Given the description of an element on the screen output the (x, y) to click on. 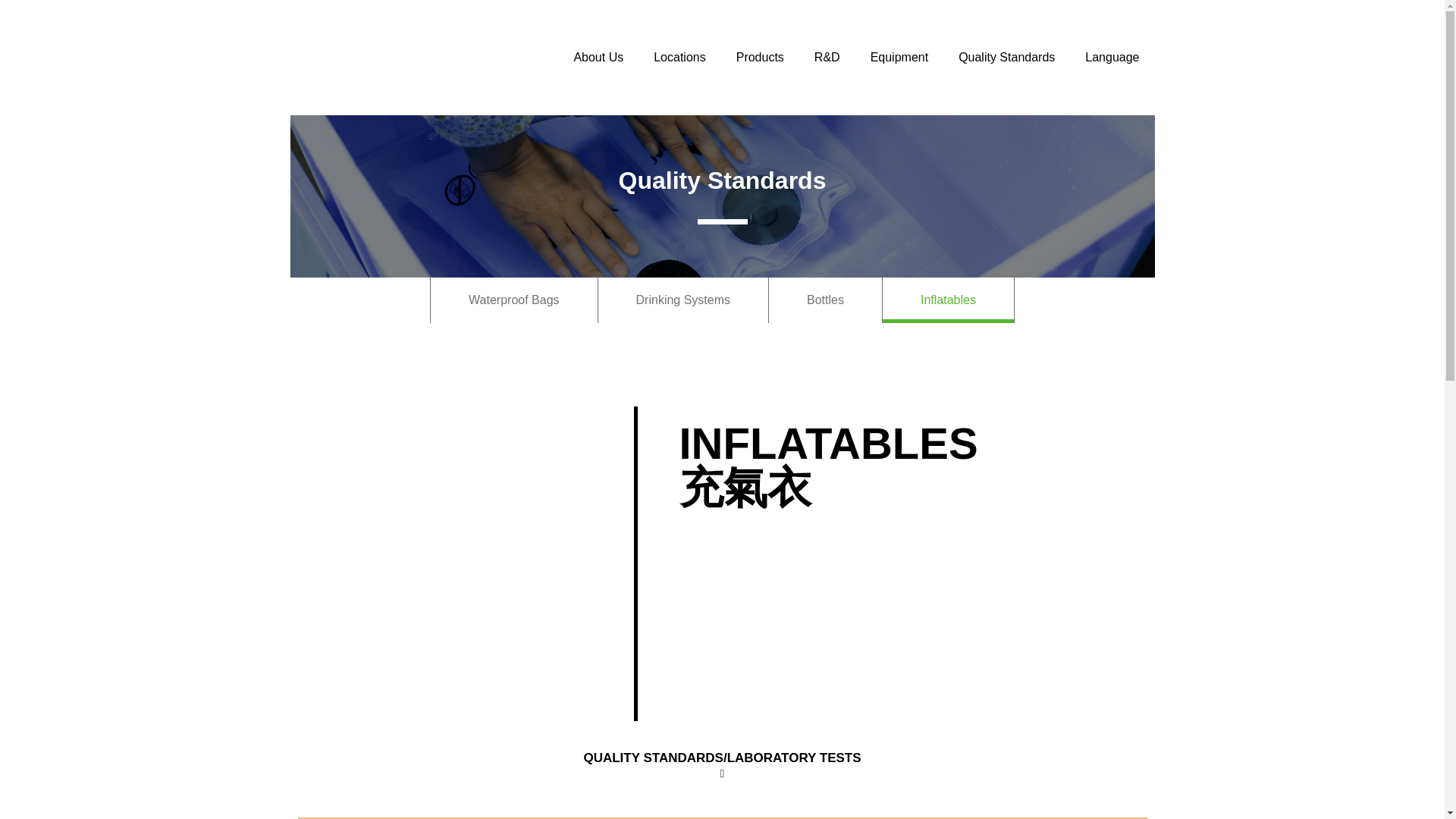
About Us (598, 57)
Products (759, 57)
Equipment (899, 57)
Locations (679, 57)
Quality Standards (1006, 57)
Language (1112, 57)
